Given the description of an element on the screen output the (x, y) to click on. 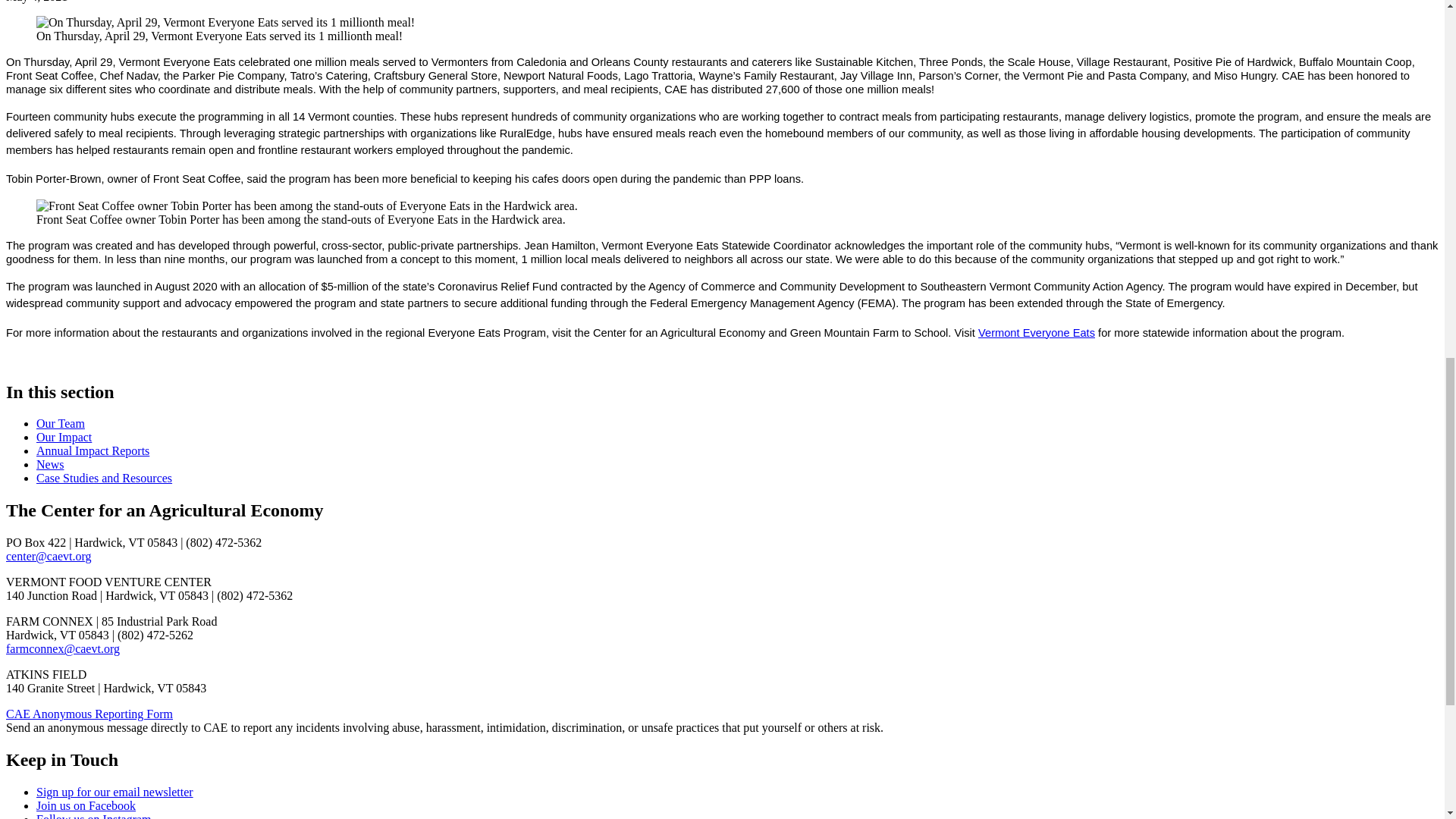
News (50, 463)
Annual Impact Reports (92, 450)
Our Team (60, 422)
Vermont Everyone Eats (1036, 332)
Our Impact (63, 436)
